Given the description of an element on the screen output the (x, y) to click on. 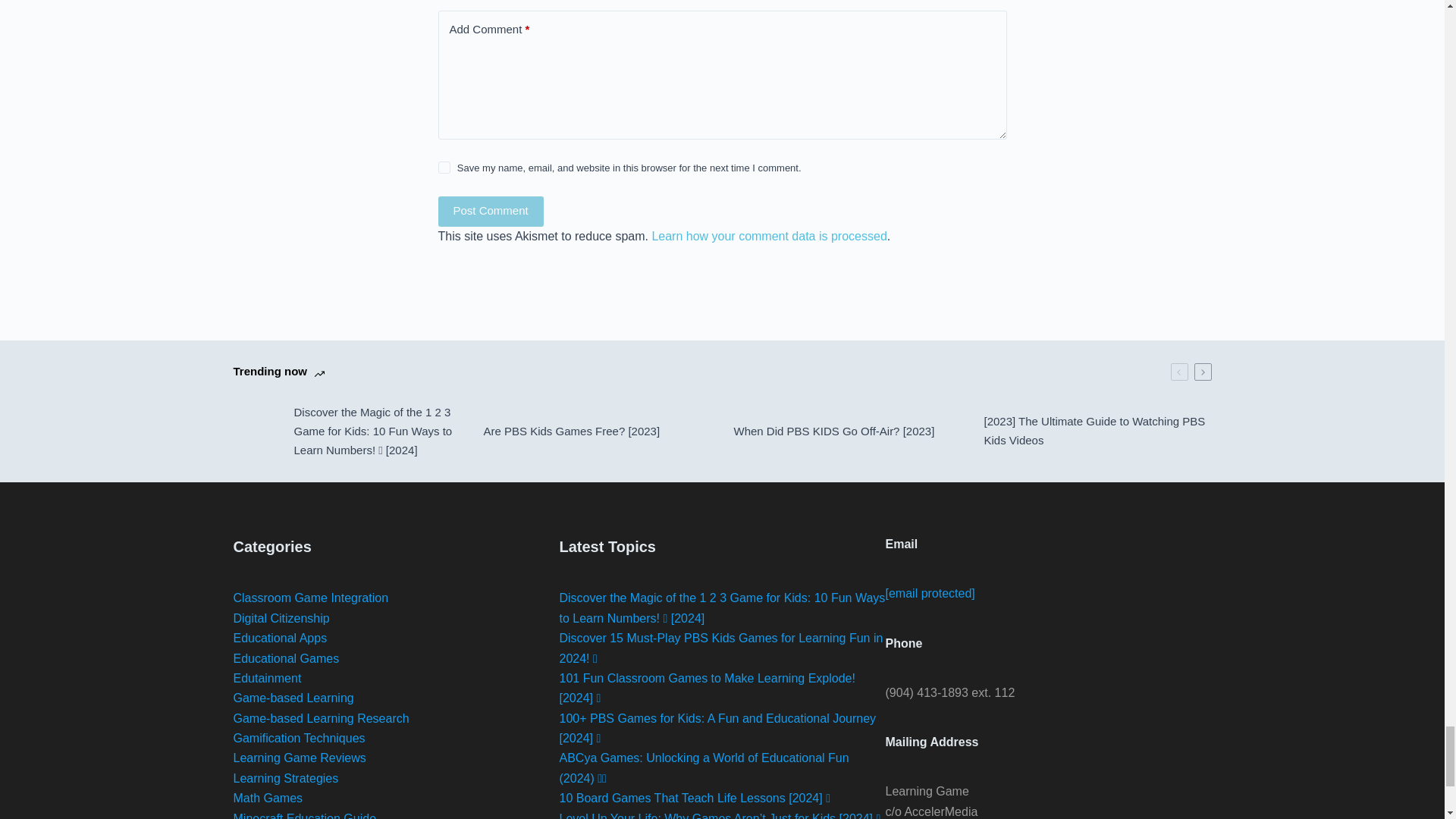
yes (443, 167)
